Given the description of an element on the screen output the (x, y) to click on. 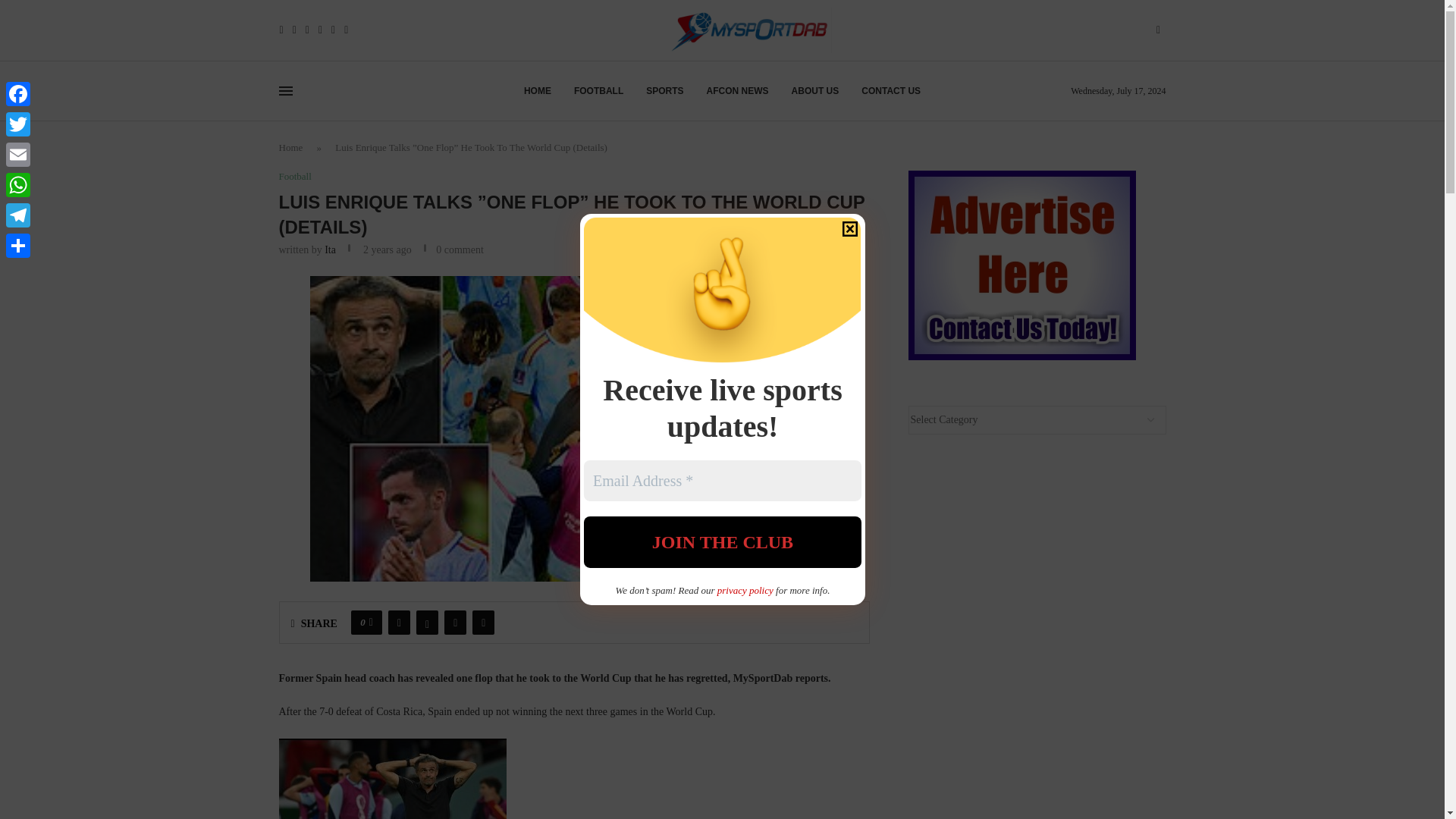
HOME (537, 90)
FOOTBALL (598, 90)
SPORTS (664, 90)
CONTACT US (890, 90)
JOIN THE CLUB (722, 542)
Email Address (722, 480)
AFCON NEWS (737, 90)
ABOUT US (816, 90)
Like (370, 622)
